Given the description of an element on the screen output the (x, y) to click on. 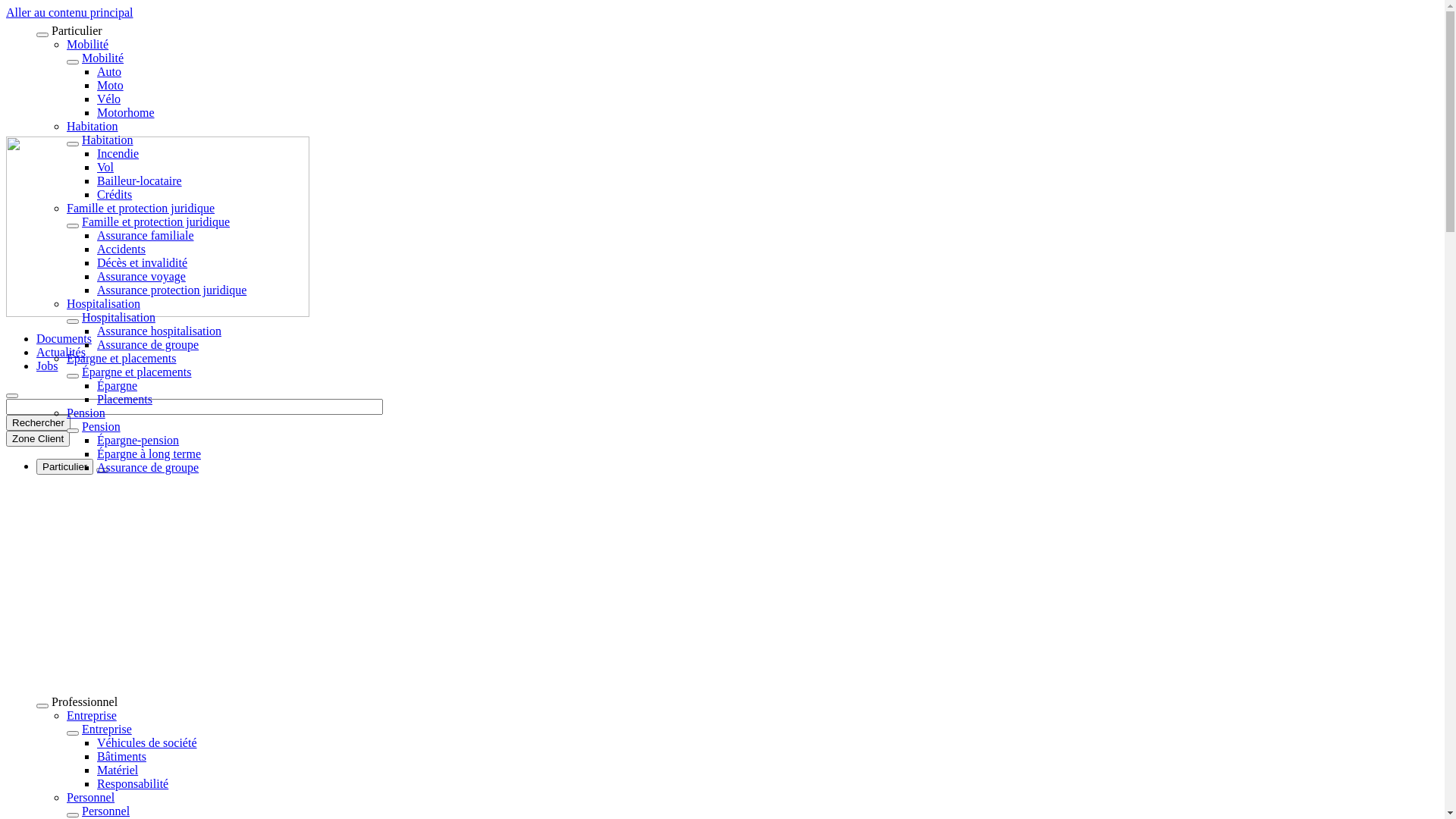
Zone Client Element type: text (37, 438)
Famille et protection juridique Element type: text (140, 207)
Particulier Element type: text (64, 466)
Incendie Element type: text (117, 153)
Documents Element type: text (63, 338)
Assurance hospitalisation Element type: text (159, 330)
Accidents Element type: text (121, 248)
Assurance de groupe Element type: text (147, 344)
Hospitalisation Element type: text (103, 303)
Auto Element type: text (109, 71)
Habitation Element type: text (107, 139)
Bailleur-locataire Element type: text (139, 180)
Personnel Element type: text (105, 810)
Moto Element type: text (110, 84)
Pension Element type: text (100, 426)
Placements Element type: text (124, 398)
Assurance protection juridique Element type: text (171, 289)
Habitation Element type: text (92, 125)
Pension Element type: text (85, 412)
Assurance familiale Element type: text (145, 235)
Assurance voyage Element type: text (141, 275)
Entreprise Element type: text (106, 728)
Hospitalisation Element type: text (118, 316)
Entreprise Element type: text (91, 715)
Vol Element type: text (105, 166)
Personnel Element type: text (90, 796)
Jobs Element type: text (46, 365)
Aller au contenu principal Element type: text (69, 12)
Motorhome Element type: text (125, 112)
Assurance de groupe Element type: text (147, 467)
Famille et protection juridique Element type: text (155, 221)
Rechercher Element type: text (38, 422)
